Given the description of an element on the screen output the (x, y) to click on. 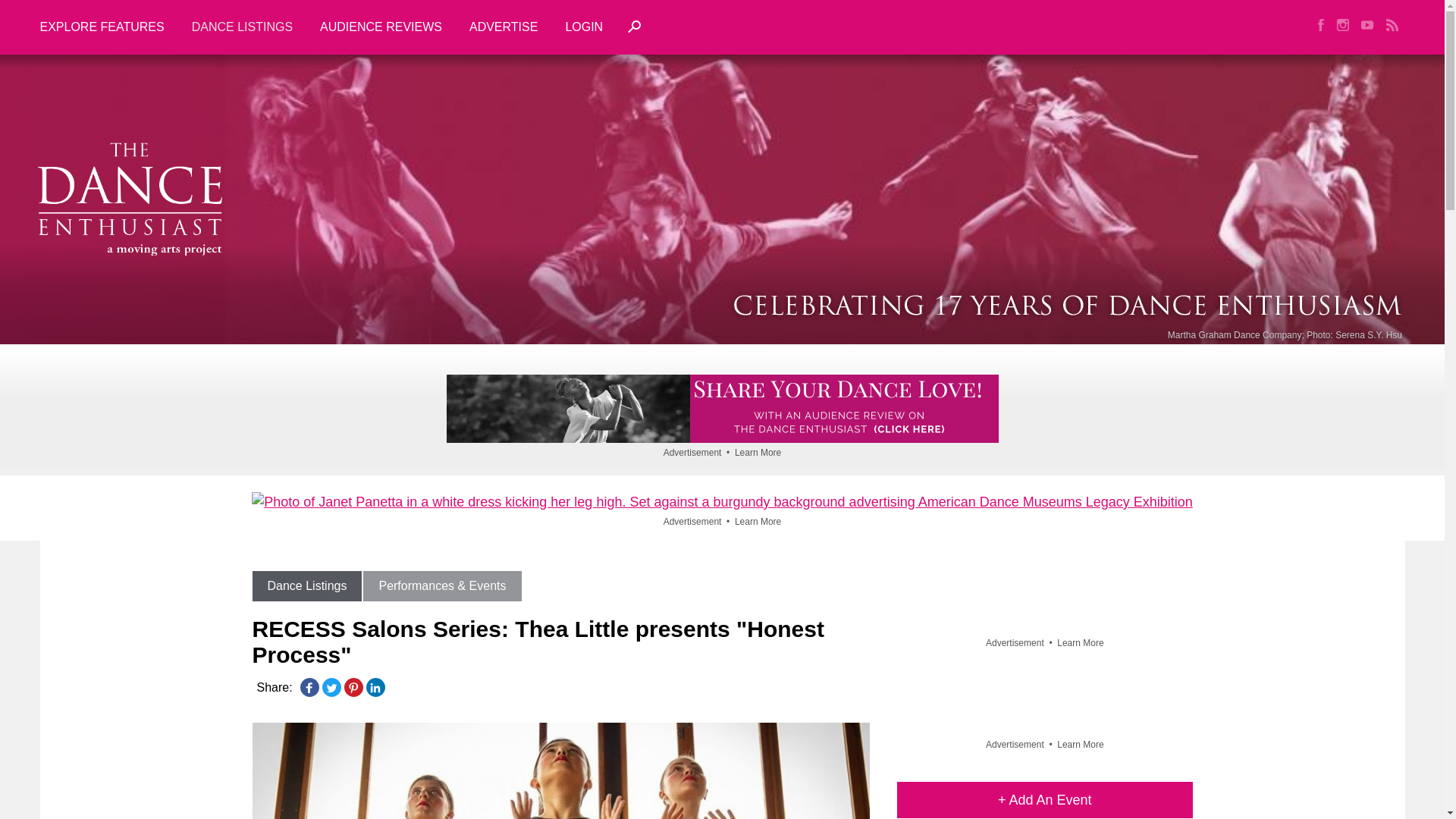
Facebook (309, 687)
ADVERTISE (503, 27)
LinkedIn (375, 687)
Twitter (331, 687)
Pinterest (353, 687)
EXPLORE FEATURES (108, 27)
DANCE LISTINGS (241, 27)
AUDIENCE REVIEWS (380, 27)
LOGIN (583, 27)
